Given the description of an element on the screen output the (x, y) to click on. 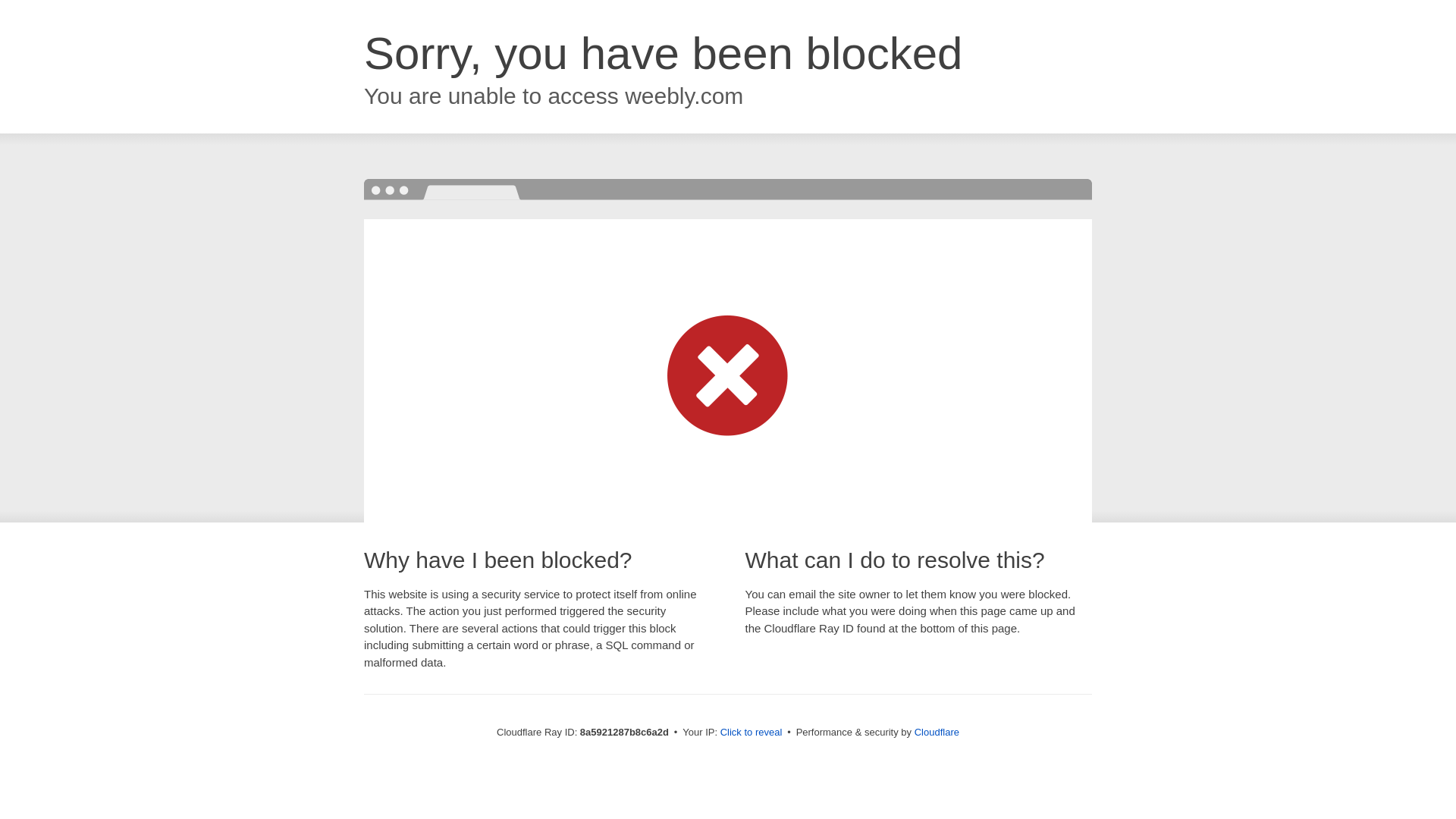
Cloudflare (936, 731)
Click to reveal (751, 732)
